Given the description of an element on the screen output the (x, y) to click on. 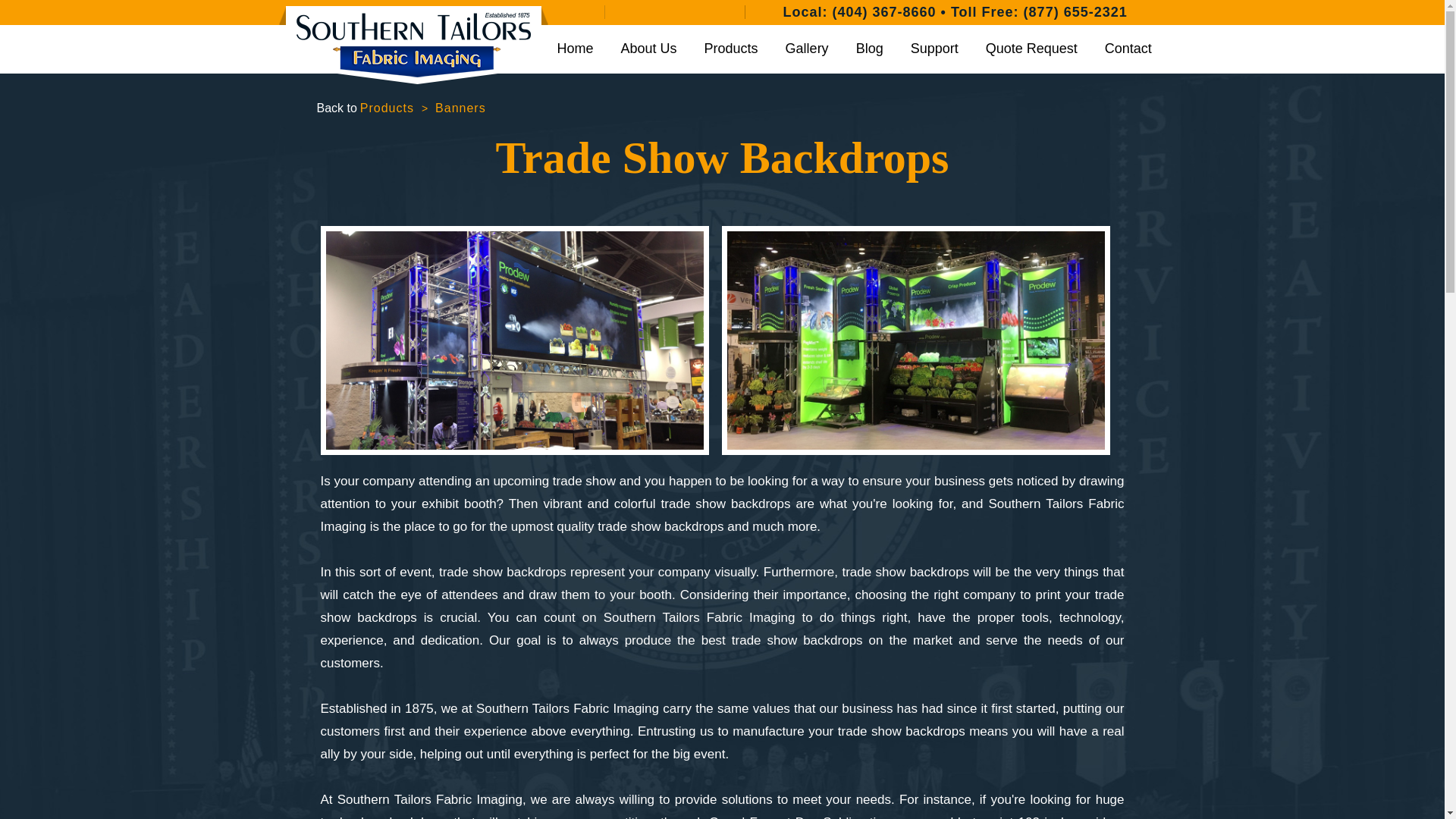
Write a Review (593, 11)
Call Southern Tailors Fabric Imaging (884, 11)
Southern Tailors Fabric Imaging (413, 44)
About Us (649, 48)
Products (731, 48)
Products (731, 48)
About Southern Tailors Fabric Imaging (649, 48)
